Given the description of an element on the screen output the (x, y) to click on. 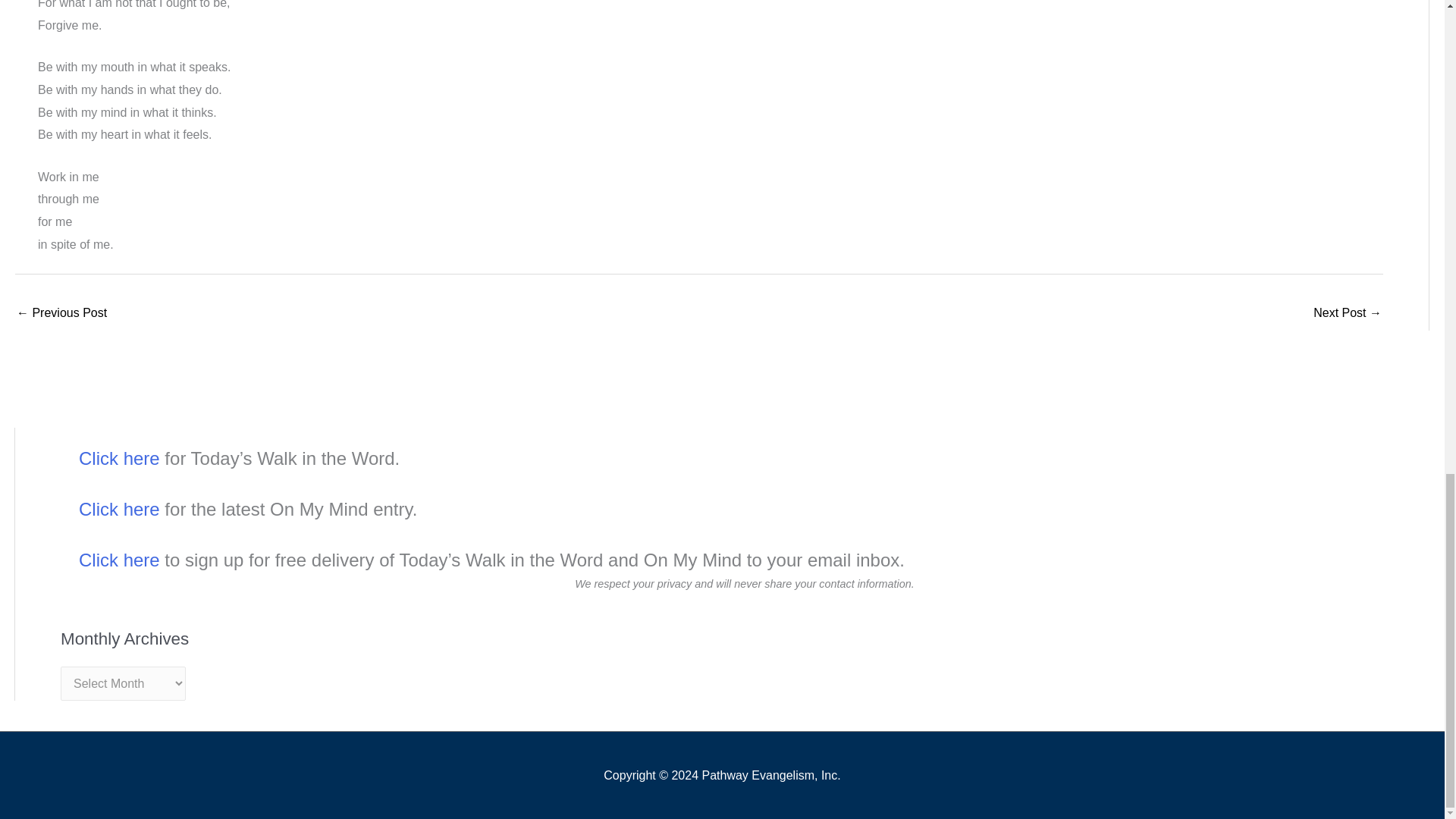
Click here (119, 457)
Click here (119, 508)
Be My Witnesses (61, 314)
Click here (119, 559)
Try Ducks (1347, 314)
